Given the description of an element on the screen output the (x, y) to click on. 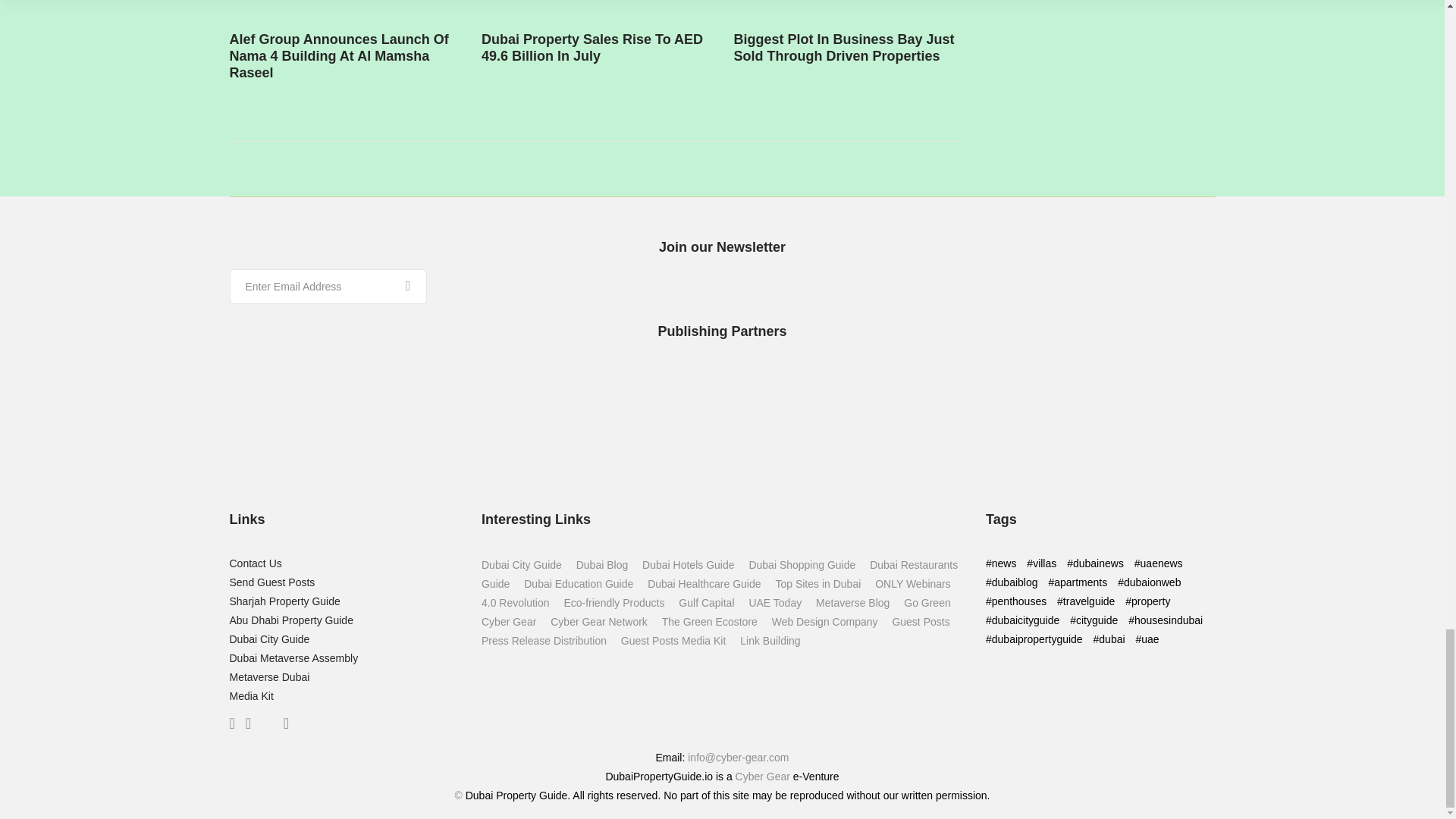
Dubai Property Sales Rise To AED 49.6 Billion In July (592, 47)
Media Kit (250, 695)
Dubai City Guide (268, 639)
Sharjah Property Guide (283, 601)
Metaverse Dubai (268, 676)
Send Guest Posts (271, 582)
Contact Us (254, 563)
Dubai Metaverse Assembly (293, 657)
Dubai Property Sales Rise To AED 49.6 Billion In July (784, 6)
Abu Dhabi Property Guide (290, 620)
